Given the description of an element on the screen output the (x, y) to click on. 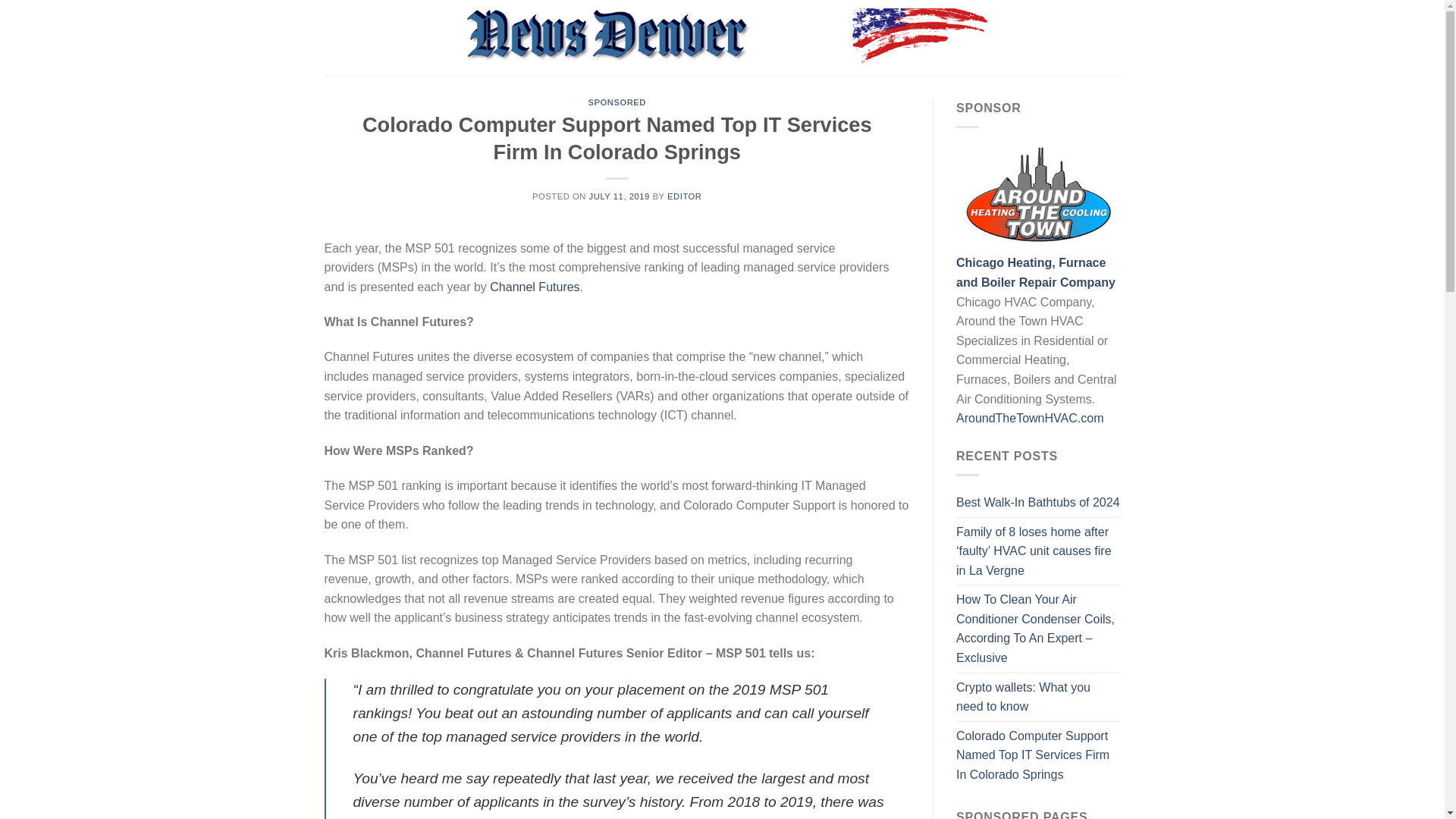
Crypto wallets: What you need to know (1038, 697)
SPONSORED (617, 102)
JULY 11, 2019 (619, 195)
Channel Futures (534, 286)
AroundTheTownHVAC.com (1029, 418)
Best Walk-In Bathtubs of 2024 (1037, 502)
Chicago Heating, Furnace and Boiler Repair Company (1035, 272)
EDITOR (683, 195)
